Given the description of an element on the screen output the (x, y) to click on. 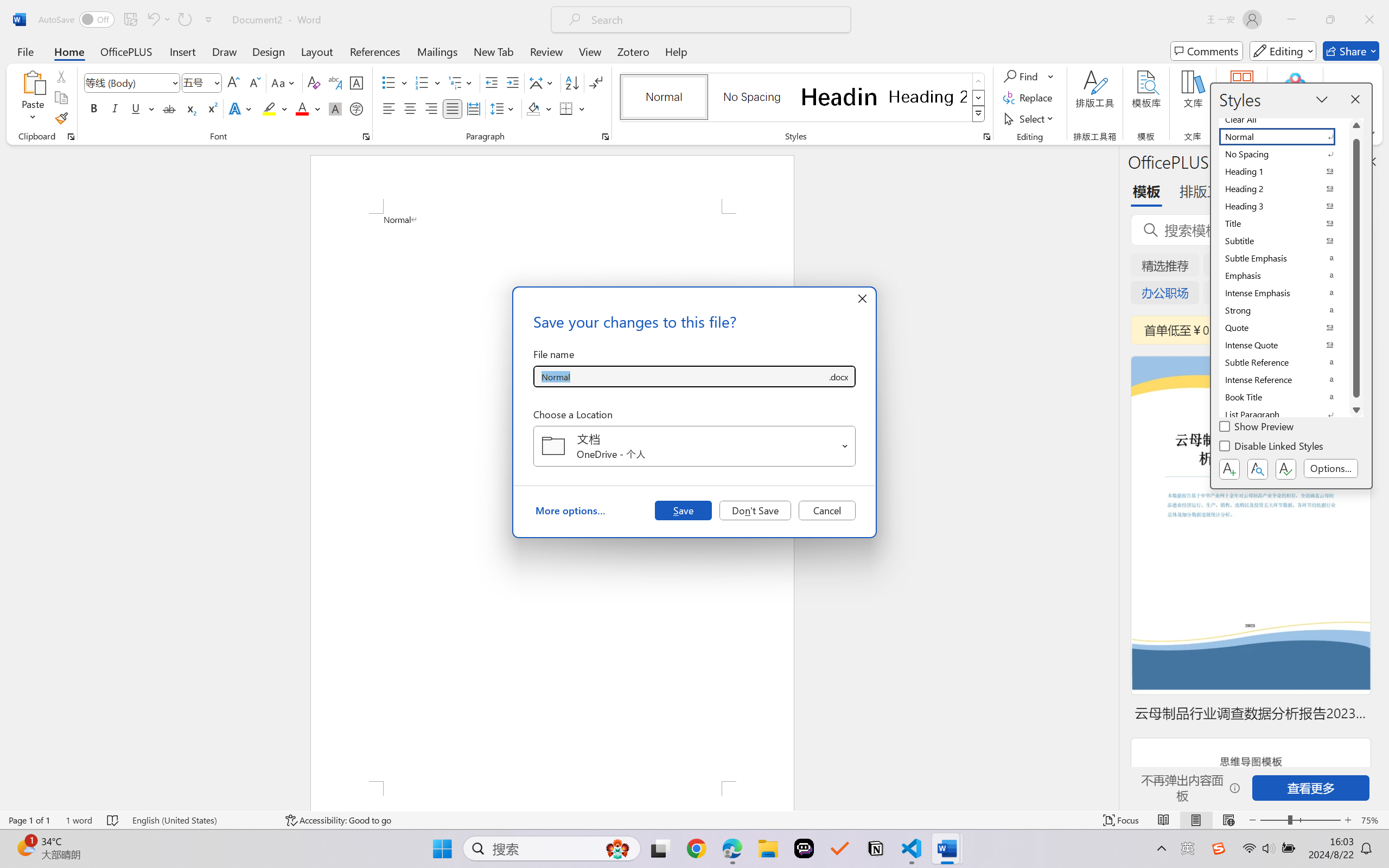
Decrease Indent (491, 82)
Justify (452, 108)
Zoom (1300, 819)
Open (844, 446)
Borders (571, 108)
Mode (1283, 50)
Font (132, 82)
Align Left (388, 108)
Line and Paragraph Spacing (503, 108)
Font Size (201, 82)
Class: Image (1218, 847)
Options... (1331, 468)
Subtitle (1283, 240)
Underline (142, 108)
